Given the description of an element on the screen output the (x, y) to click on. 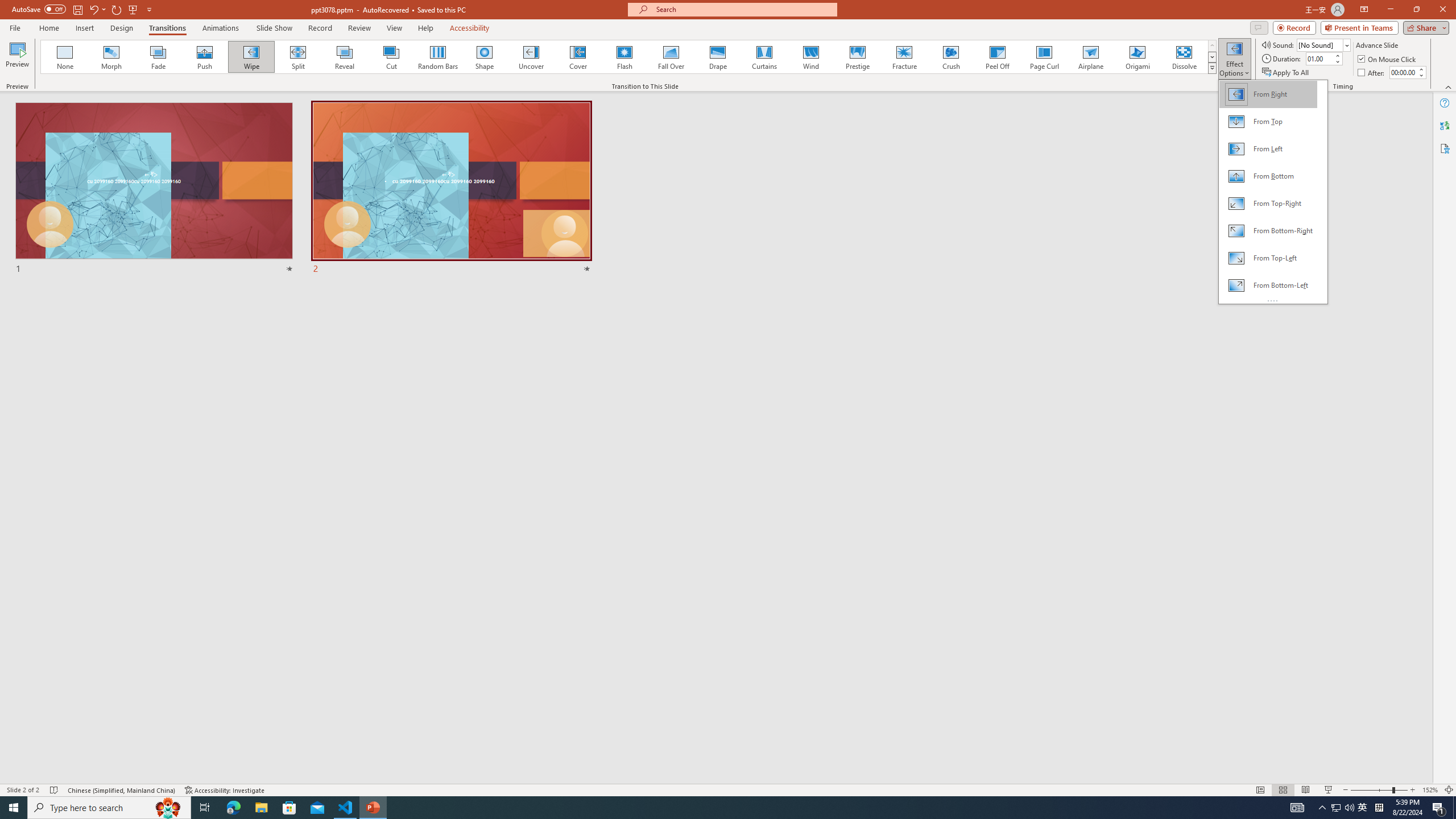
Transition Effects (1212, 67)
